Given the description of an element on the screen output the (x, y) to click on. 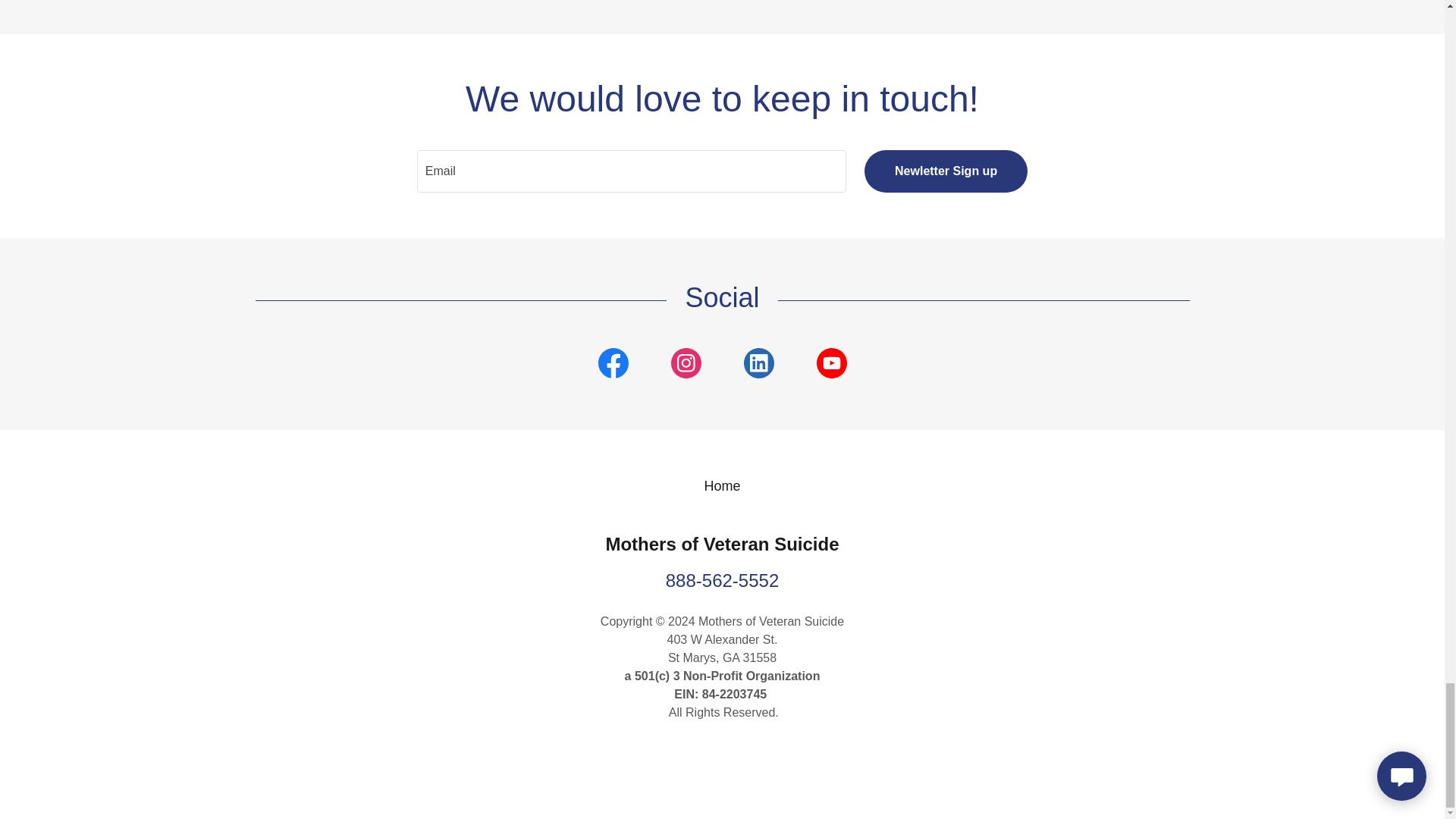
Home (721, 486)
888-562-5552 (721, 580)
Newletter Sign up (945, 170)
